Given the description of an element on the screen output the (x, y) to click on. 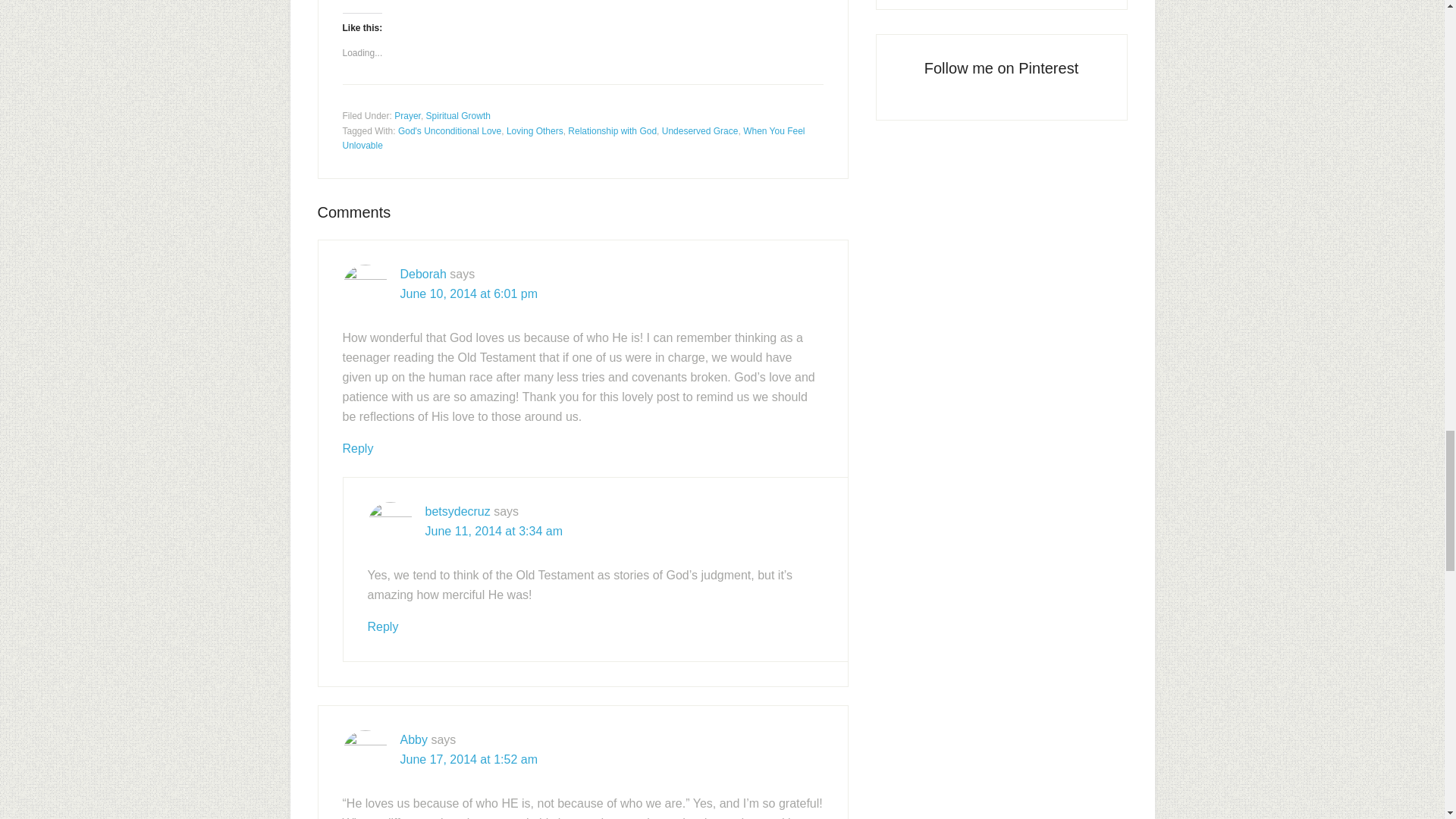
Deborah (423, 273)
When You Feel Unlovable (573, 138)
June 17, 2014 at 1:52 am (468, 758)
Spiritual Growth (458, 115)
Abby (414, 739)
Undeserved Grace (700, 131)
God's Unconditional Love (448, 131)
Loving Others (534, 131)
betsydecruz (457, 511)
Reply (358, 448)
June 10, 2014 at 6:01 pm (468, 293)
Prayer (407, 115)
Reply (381, 626)
Relationship with God (611, 131)
June 11, 2014 at 3:34 am (493, 530)
